Given the description of an element on the screen output the (x, y) to click on. 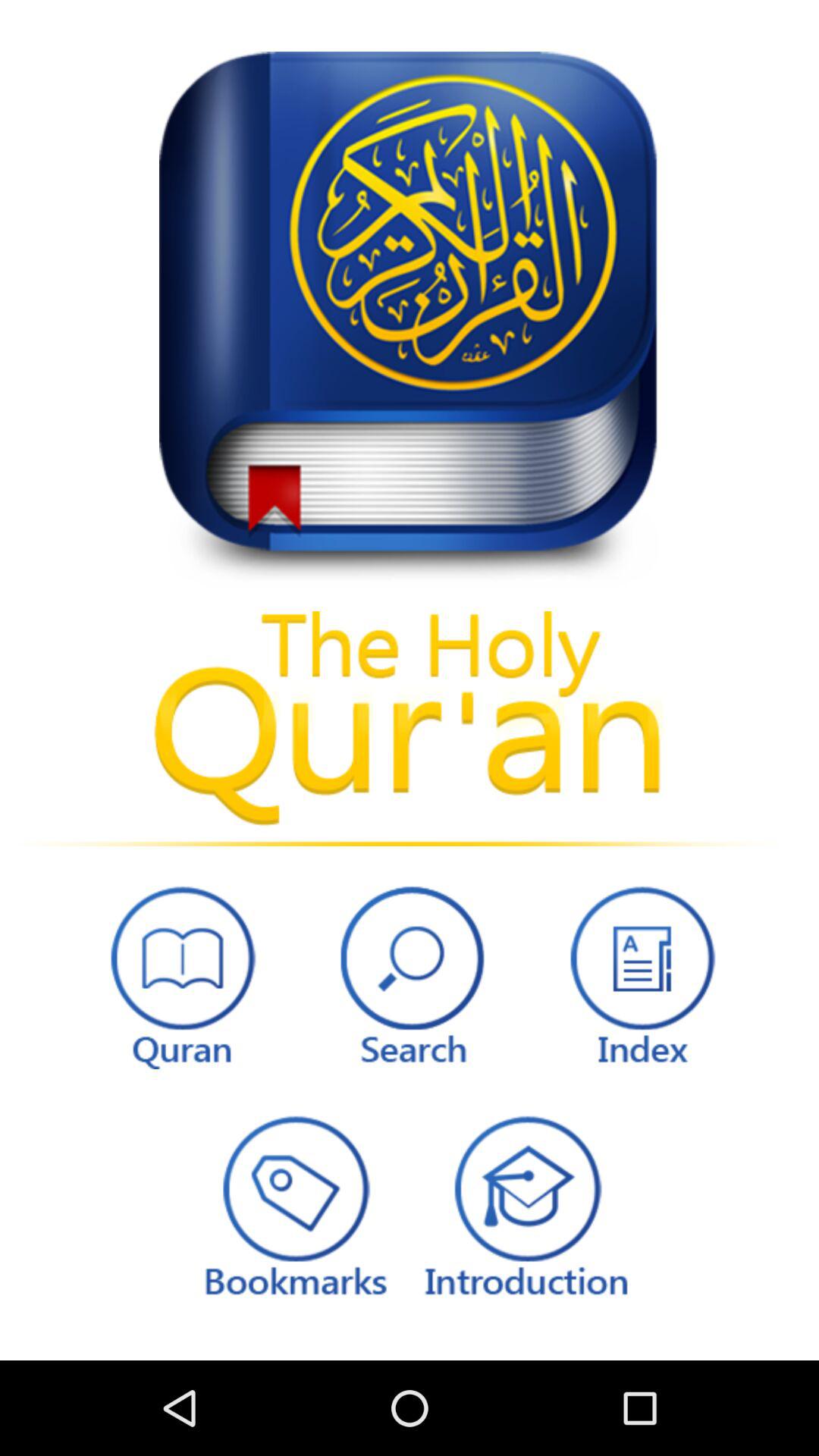
go to quran (179, 973)
